Given the description of an element on the screen output the (x, y) to click on. 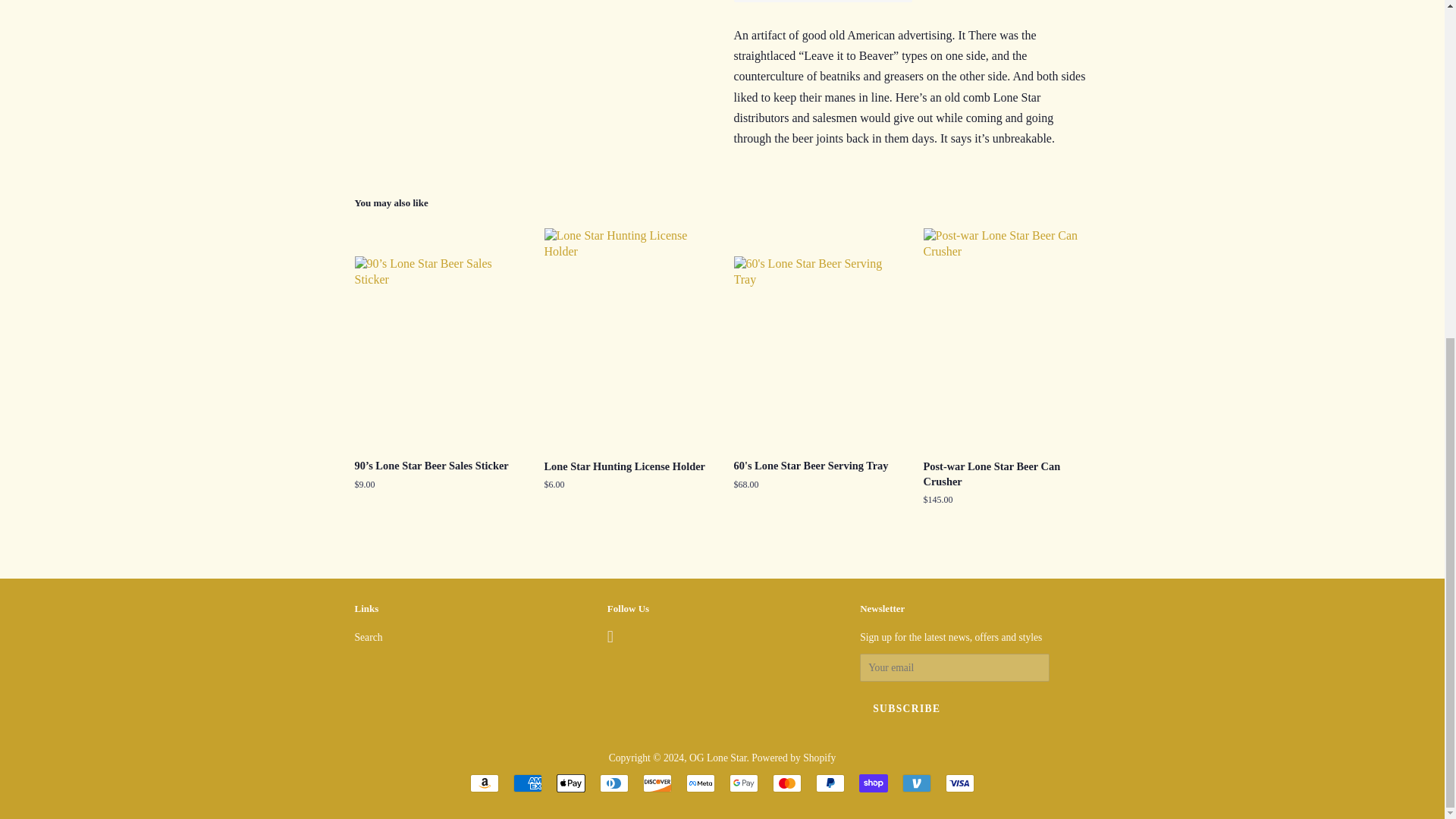
American Express (527, 782)
Visa (959, 782)
PayPal (829, 782)
SOLD OUT (822, 1)
Search (368, 636)
Diners Club (613, 782)
Discover (657, 782)
Meta Pay (699, 782)
Subscribe (906, 708)
Google Pay (743, 782)
Apple Pay (570, 782)
Shop Pay (873, 782)
Mastercard (787, 782)
Venmo (916, 782)
Amazon (484, 782)
